Given the description of an element on the screen output the (x, y) to click on. 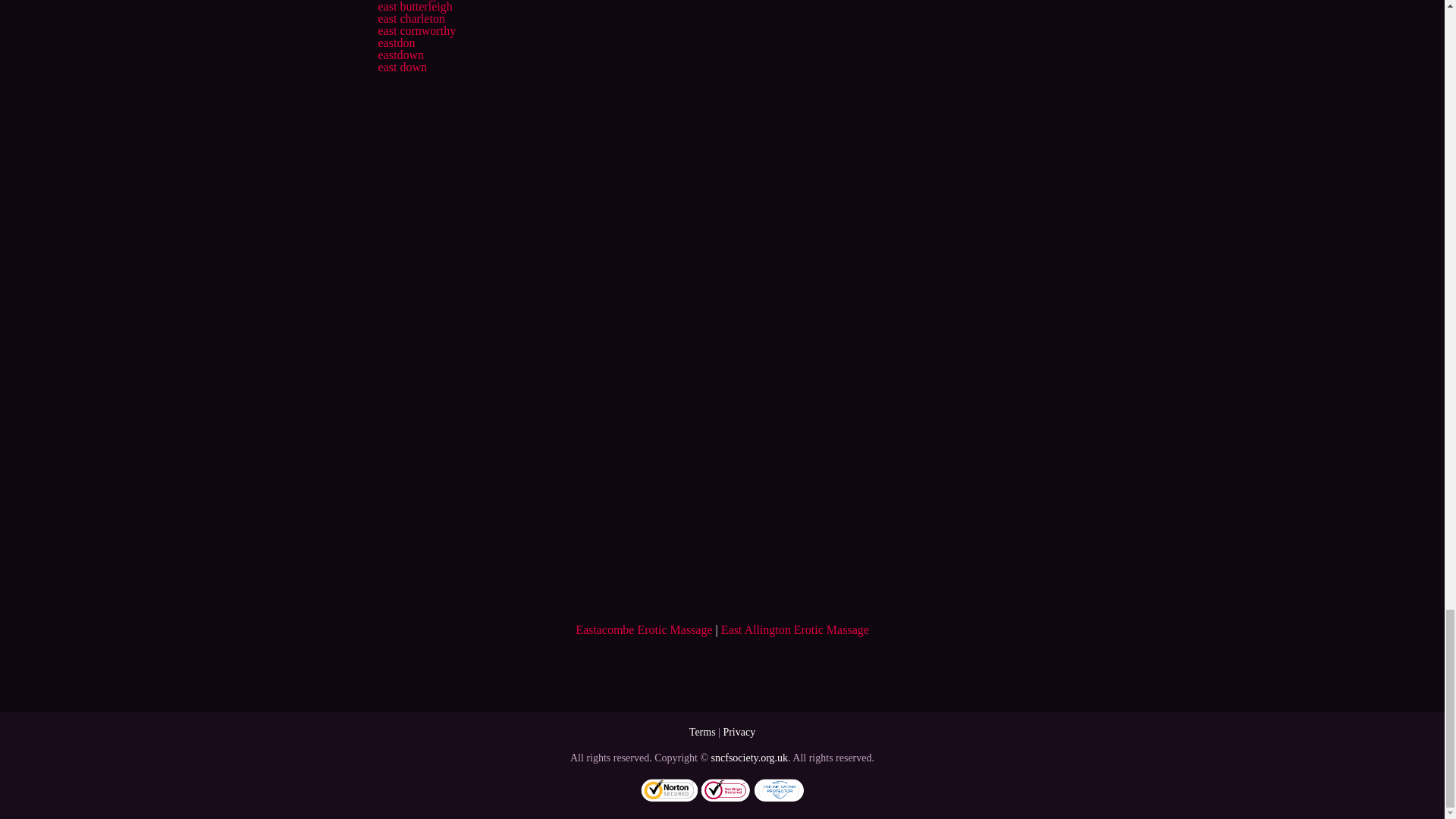
east down (401, 66)
Eastacombe Erotic Massage (643, 629)
eastdown (400, 54)
Privacy (738, 731)
sncfsociety.org.uk (749, 757)
east budleigh (409, 0)
Terms (702, 731)
Privacy (738, 731)
East Allington Erotic Massage (794, 629)
east cornworthy (416, 30)
eastdon (395, 42)
east butterleigh (414, 6)
Terms (702, 731)
east charleton (410, 18)
